Given the description of an element on the screen output the (x, y) to click on. 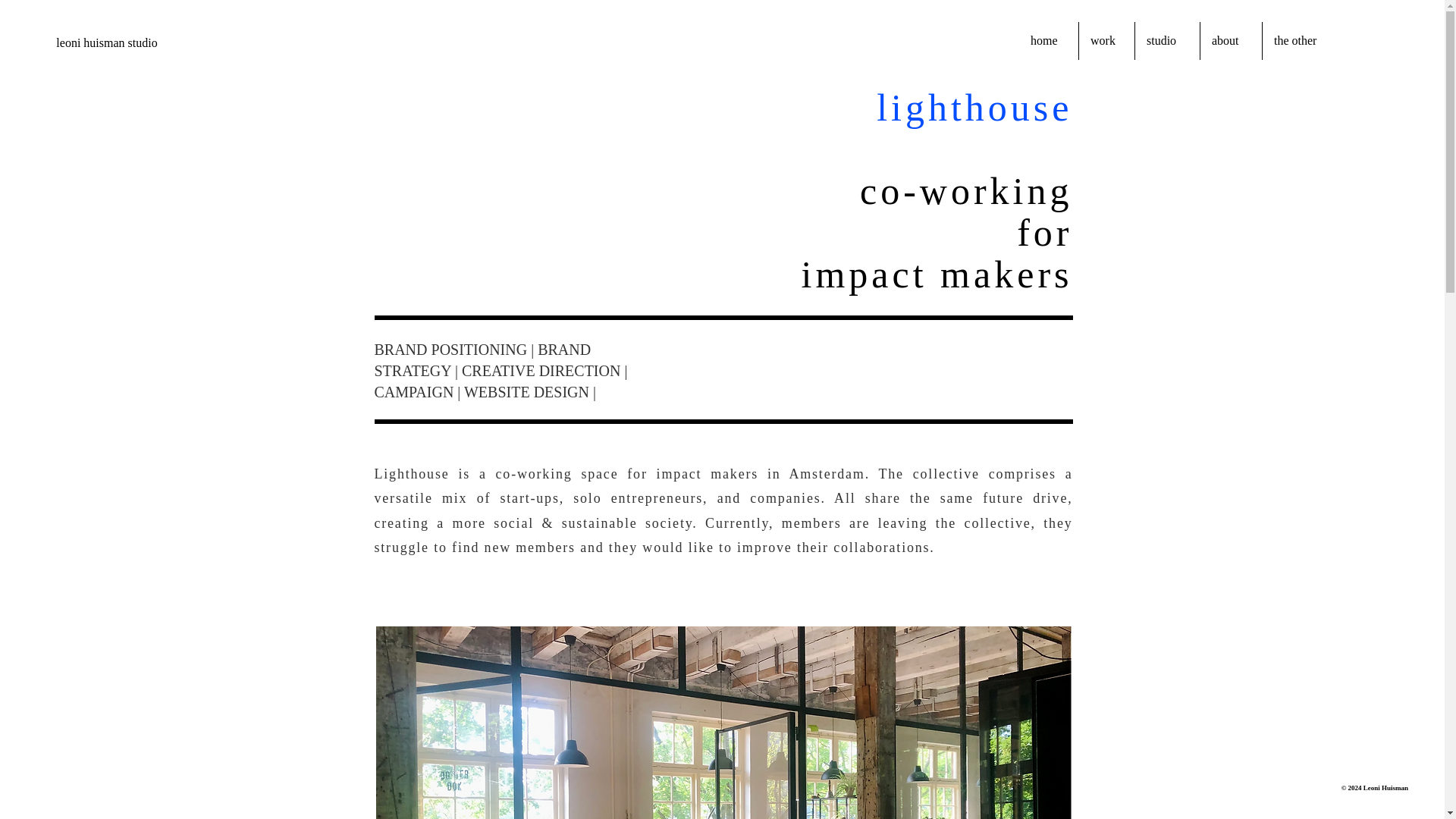
leoni huisman studio (106, 43)
home (1048, 40)
about (1230, 40)
studio (1167, 40)
work (1106, 40)
the other (1305, 40)
